Given the description of an element on the screen output the (x, y) to click on. 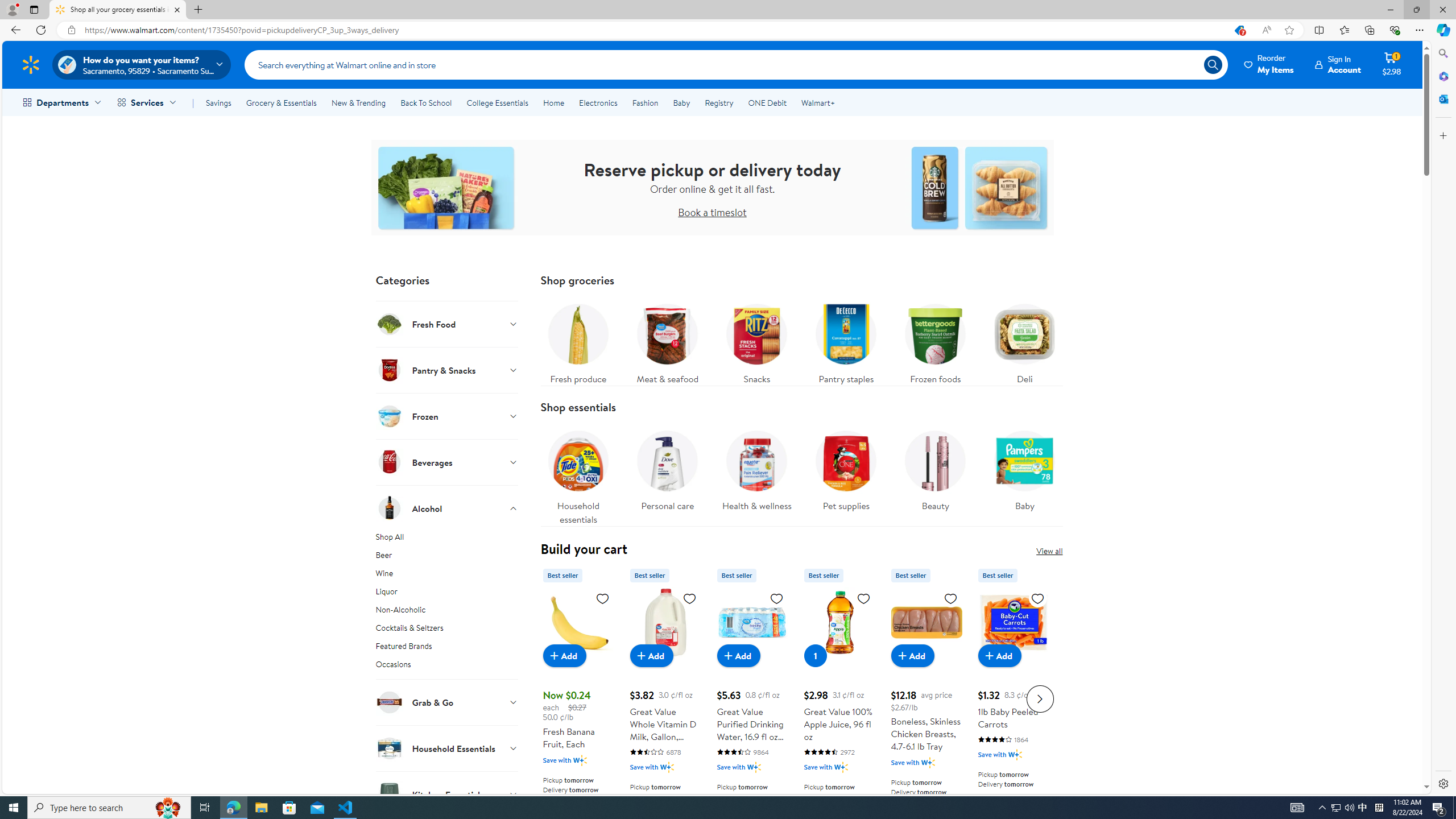
This site has coupons! Shopping in Microsoft Edge, 7 (1239, 29)
Add to cart - Fresh Banana Fruit, Each (564, 655)
Sign in to add to Favorites list, Fresh Banana Fruit, Each (601, 597)
Non-Alcoholic (446, 611)
Shop All (446, 539)
Registry (718, 102)
Shop all your grocery essentials in one place! - Walmart.com (117, 9)
